Given the description of an element on the screen output the (x, y) to click on. 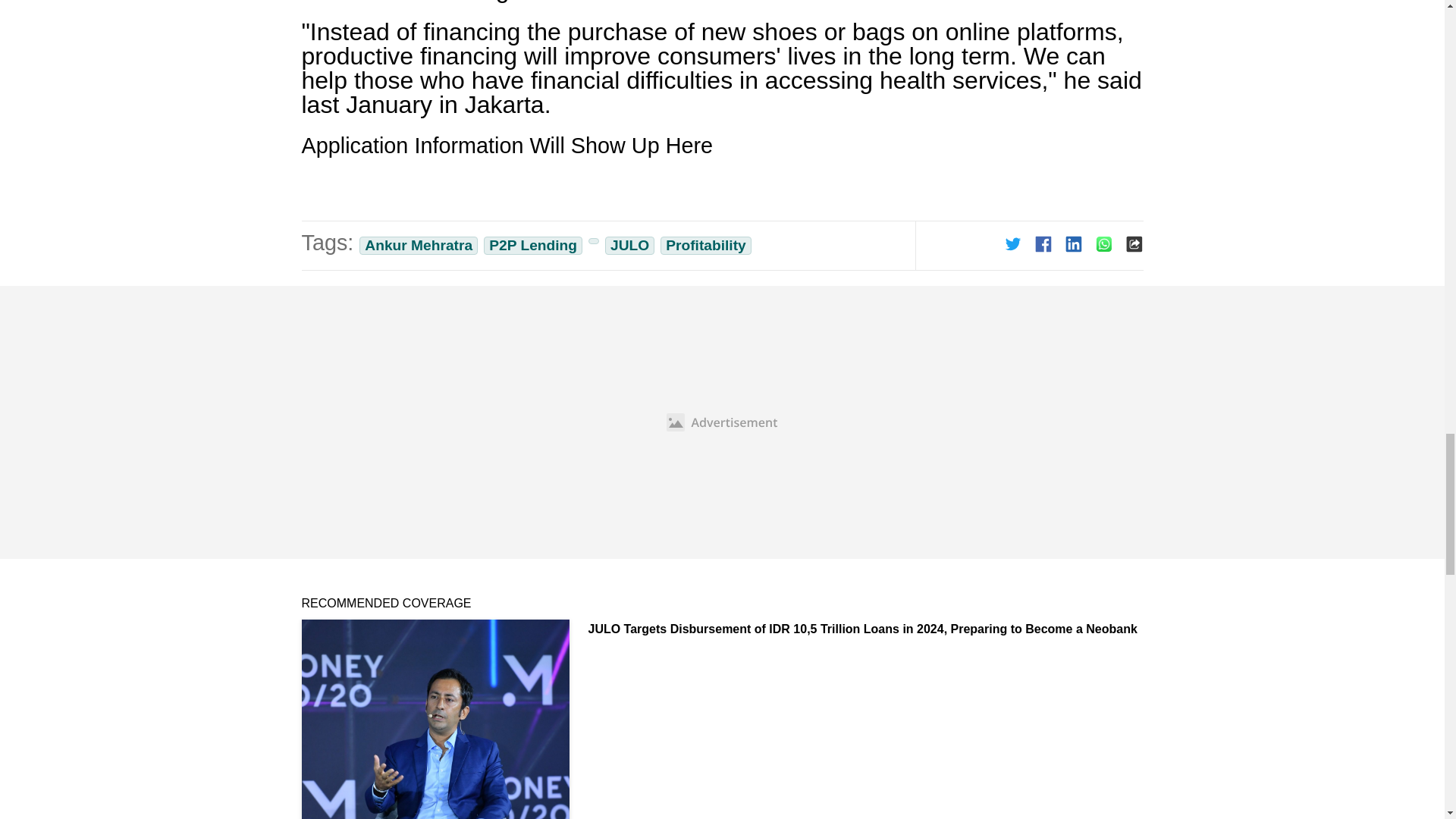
Share this article (1103, 244)
Share this article (1073, 244)
Share this article (1042, 244)
Share this article (1013, 244)
